Given the description of an element on the screen output the (x, y) to click on. 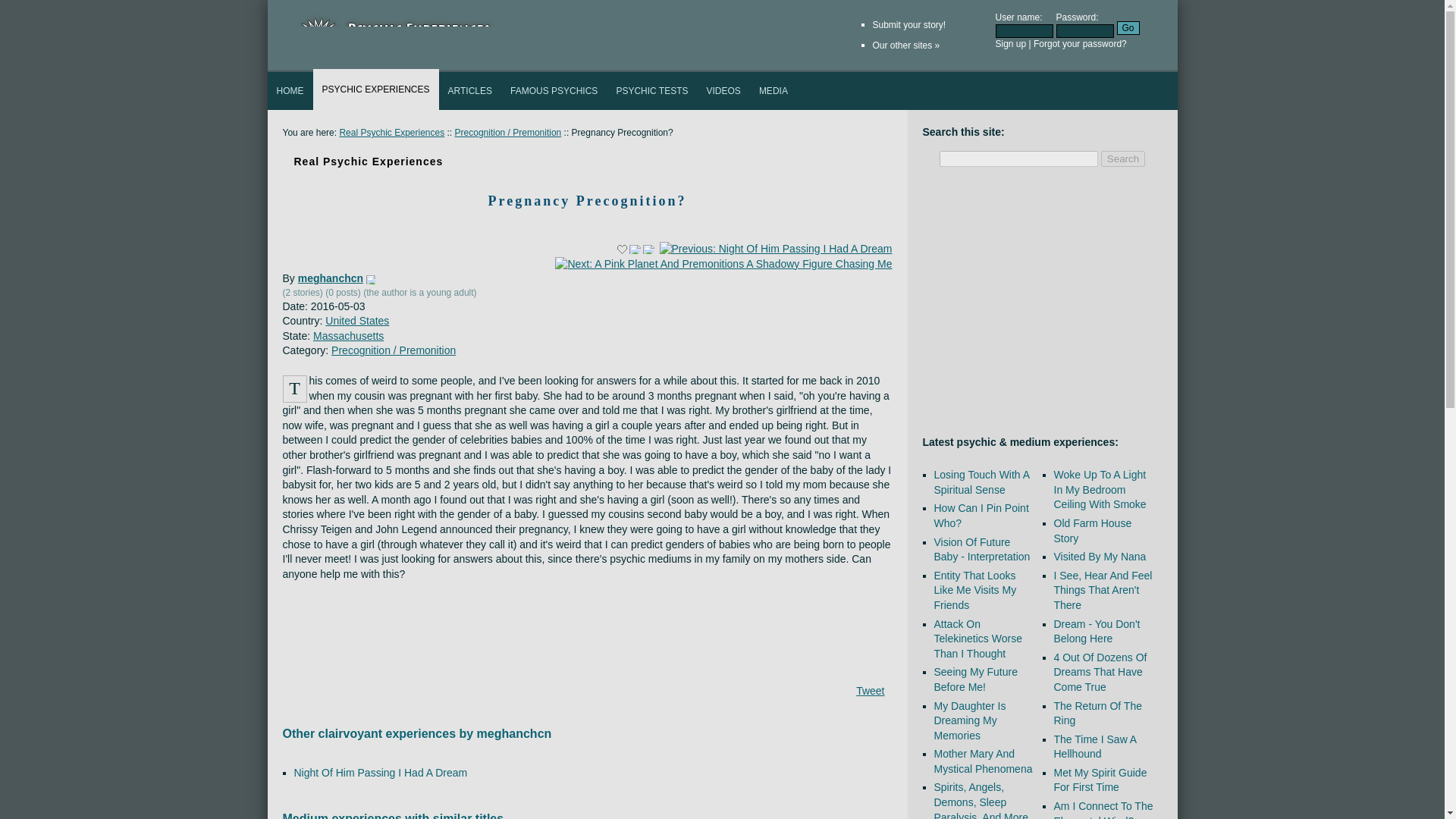
PSYCHIC TESTS (652, 90)
Add to your favorite stories (622, 248)
MEDIA (772, 90)
Send this story to a friend (634, 248)
Add meghanchcn to your favorite people (370, 279)
Real Psychic Experiences (391, 132)
Print this story (648, 248)
Sign up (1010, 43)
Search (1122, 158)
